Given the description of an element on the screen output the (x, y) to click on. 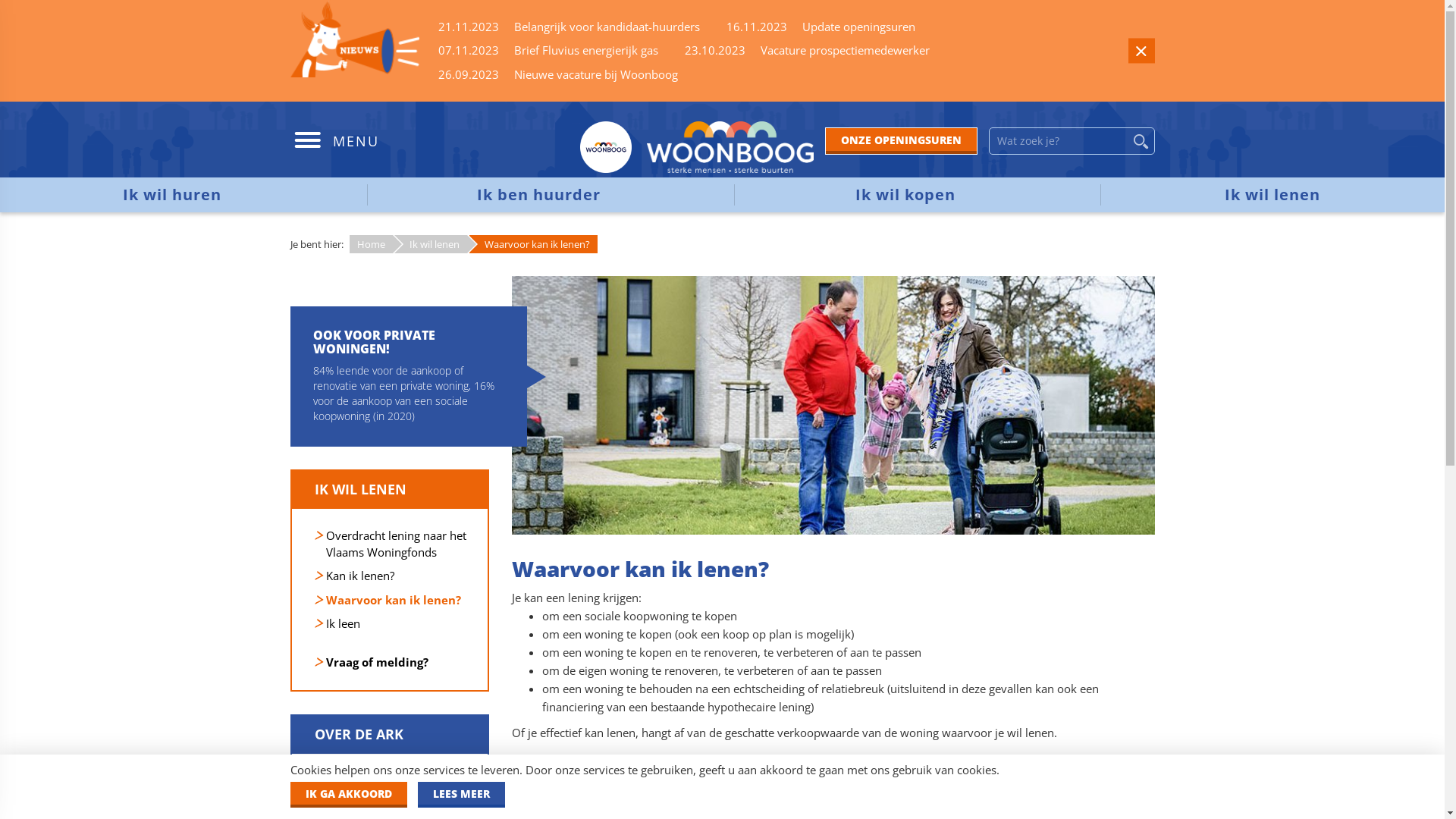
Zoeken Element type: hover (1140, 140)
21.11.2023
Belangrijk voor kandidaat-huurders Element type: text (568, 26)
Ik ben huurder Element type: text (539, 194)
Kan ik lenen? Element type: text (360, 575)
Ik leen Element type: text (343, 622)
26.09.2023
Nieuwe vacature bij Woonboog Element type: text (557, 74)
Home Element type: text (370, 244)
Overdracht lening naar het Vlaams Woningfonds Element type: text (396, 542)
IK WIL LENEN Element type: text (388, 489)
LEES MEER Element type: text (460, 794)
ONZE OPENINGSUREN Element type: text (901, 140)
Samen Woonboog Element type: text (374, 803)
Vraag of melding? Element type: text (377, 661)
Ik wil lenen Element type: text (430, 244)
07.11.2023
Brief Fluvius energierijk gas Element type: text (548, 50)
Home Element type: text (341, 779)
Ik wil huren Element type: text (172, 194)
23.10.2023
Vacature prospectiemedewerker Element type: text (806, 50)
Ik wil kopen Element type: text (906, 194)
MENU Element type: text (334, 142)
Waarvoor kan ik lenen? Element type: text (393, 599)
16.11.2023
Update openingsuren Element type: text (820, 26)
IK GA AKKOORD Element type: text (347, 794)
Ik wil lenen Element type: text (1272, 194)
